Given the description of an element on the screen output the (x, y) to click on. 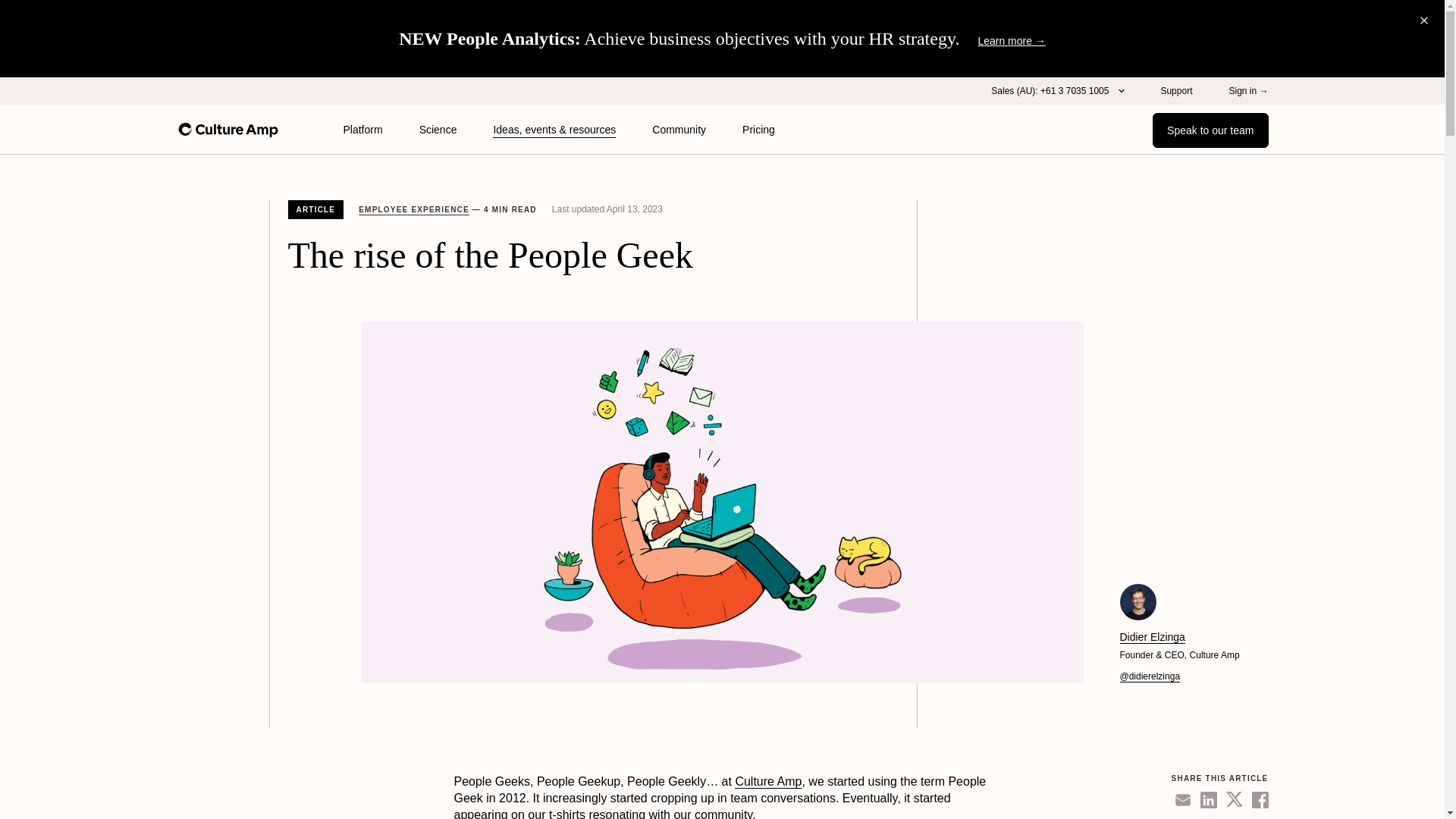
Platform (362, 129)
Science (438, 129)
Support (1176, 90)
